Given the description of an element on the screen output the (x, y) to click on. 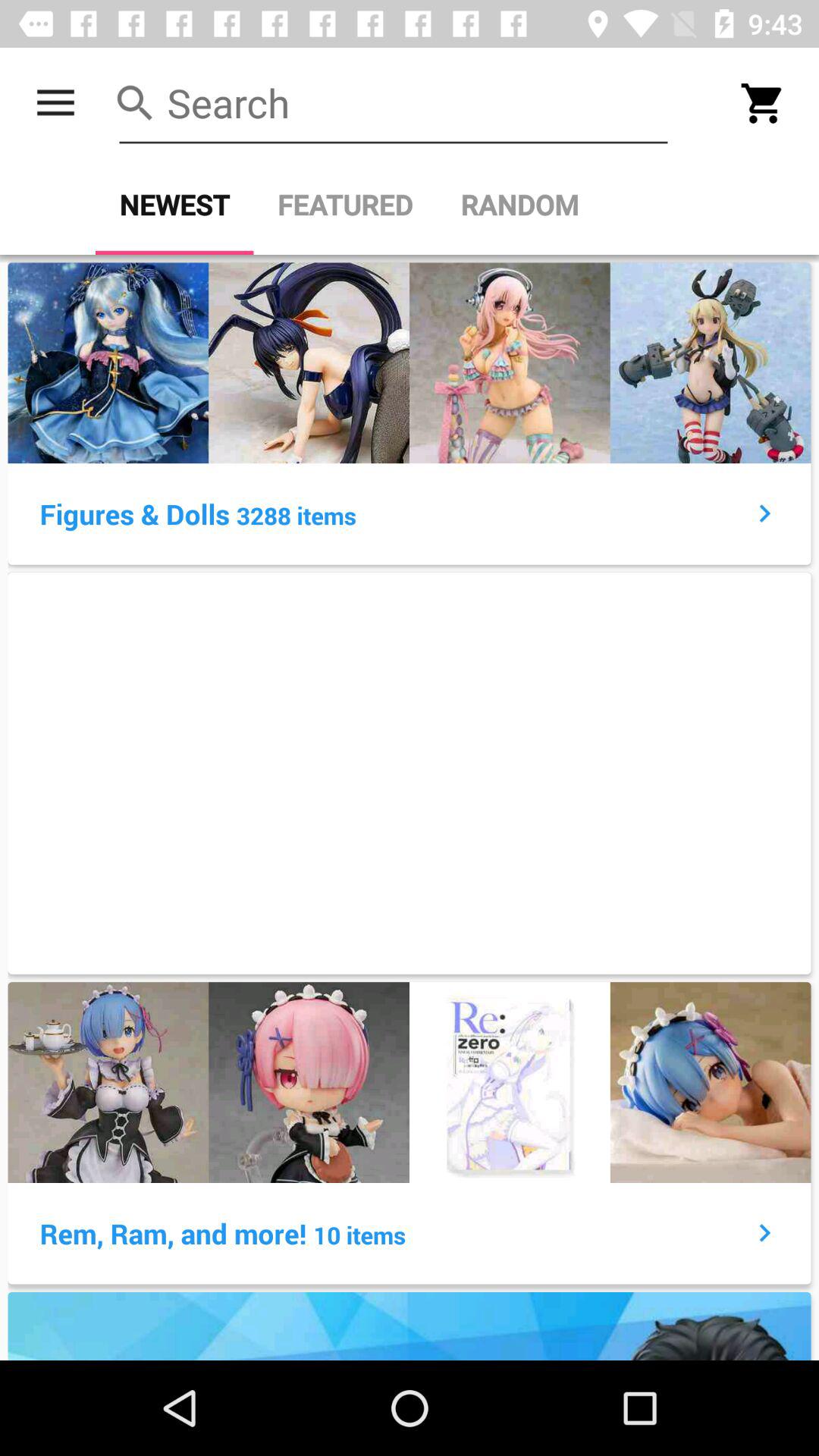
select the featured icon (344, 204)
